Given the description of an element on the screen output the (x, y) to click on. 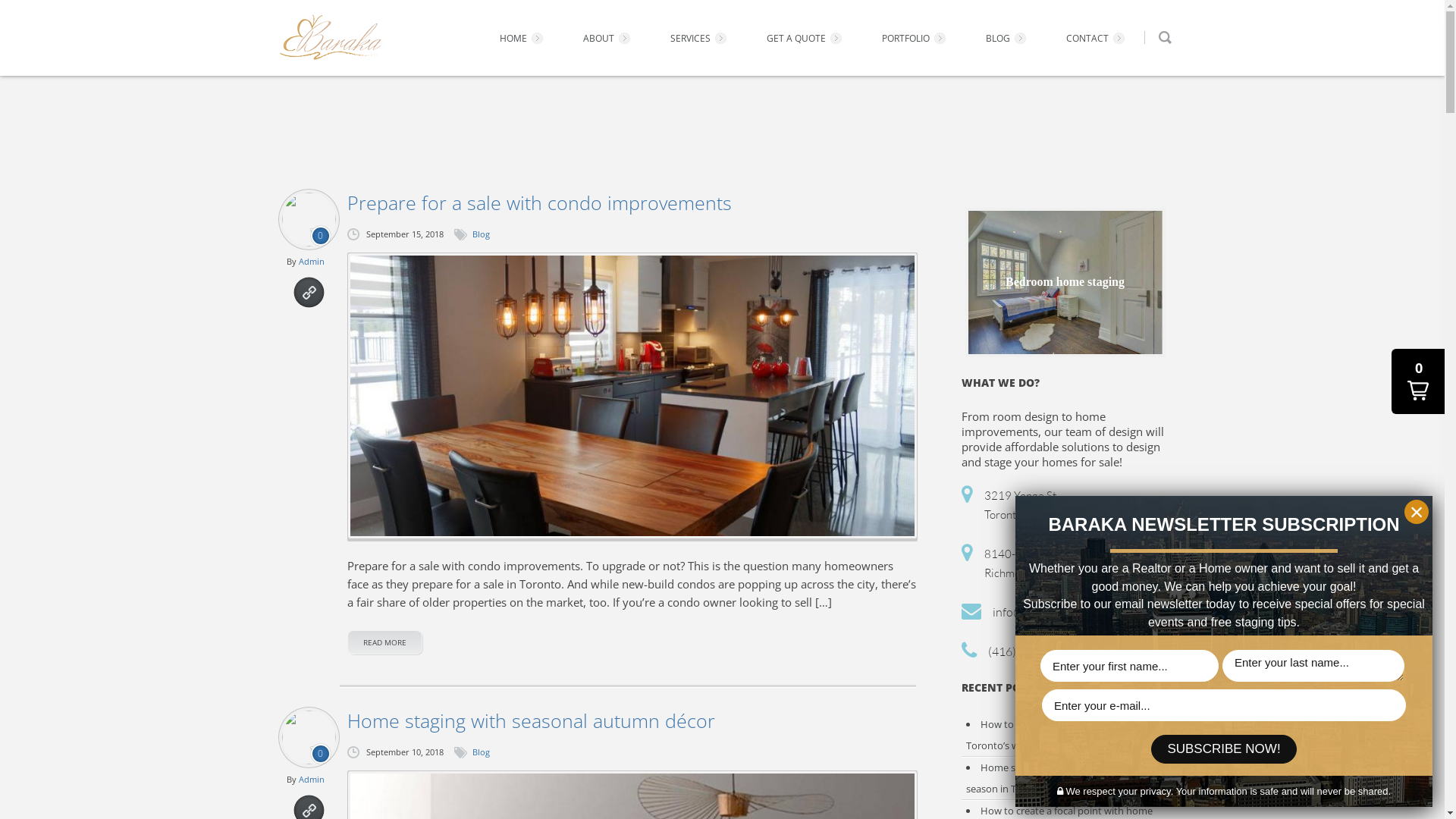
SUBSCRIBE NOW! Element type: text (1223, 748)
Home staging with indoor plants in any season in Toronto Element type: text (1061, 777)
Blog Element type: text (480, 751)
GET A QUOTE Element type: text (804, 38)
ABOUT Element type: text (607, 38)
Admin Element type: text (311, 778)
Baraka GTA Staging Element type: hover (330, 37)
Prepare for a sale with condo improvements Element type: text (631, 202)
Blog Element type: text (480, 232)
Admin Element type: text (311, 260)
CONTACT Element type: text (1097, 38)
SERVICES Element type: text (700, 38)
READ MORE Element type: text (384, 642)
Prepare for a sale with condo improvements Element type: hover (632, 395)
PORTFOLIO Element type: text (914, 38)
BLOG Element type: text (1007, 38)
Bedroom home staging Element type: text (1064, 282)
0 Element type: text (1417, 381)
HOME Element type: text (522, 38)
